Given the description of an element on the screen output the (x, y) to click on. 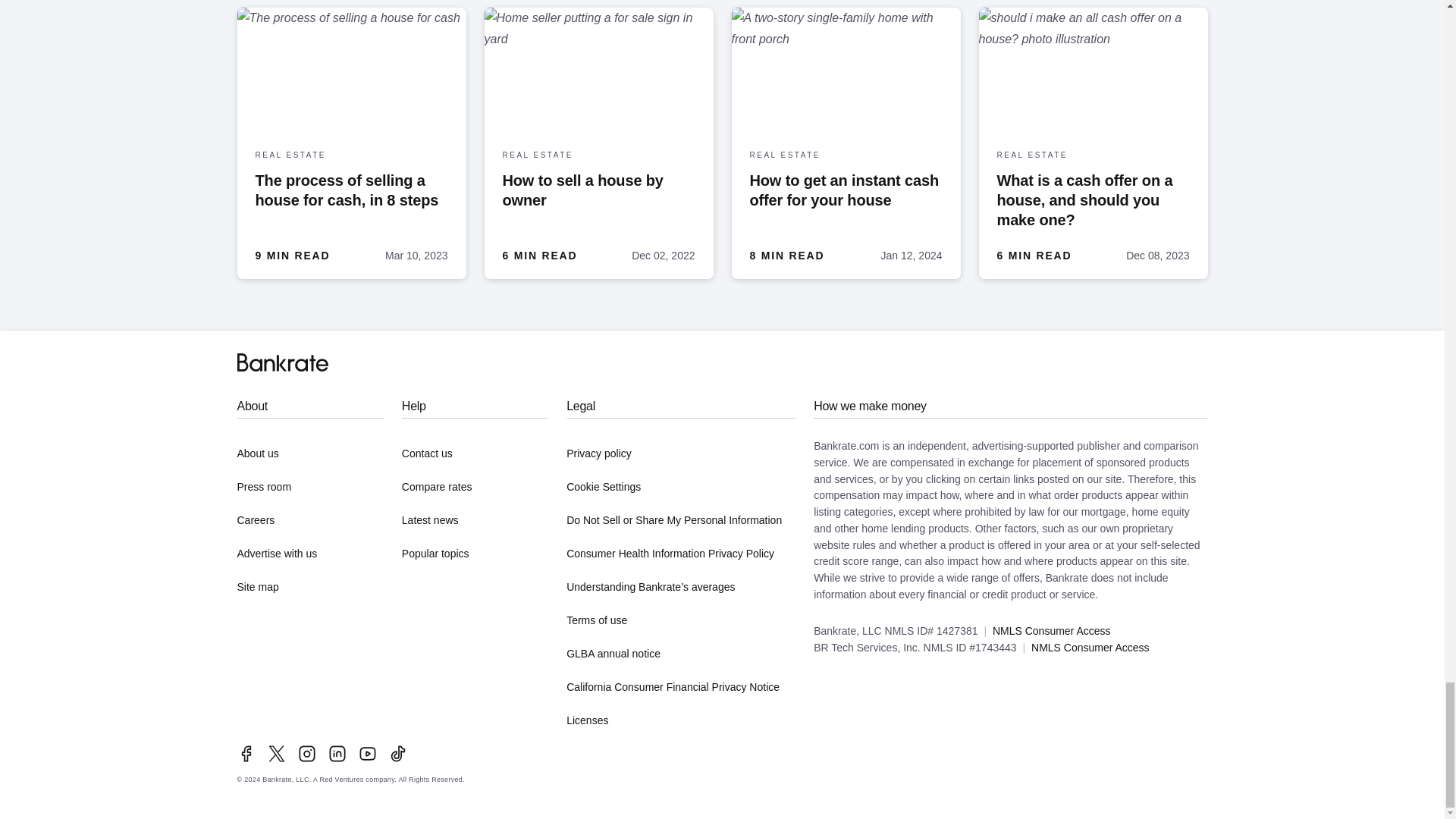
Youtube (366, 753)
LinkedIn (336, 753)
Tiktok (397, 753)
Twitter logo (275, 753)
LinkedIn logo (336, 753)
TikTok logo (397, 753)
Bankrate (281, 361)
Twitter (275, 753)
Instagram (306, 753)
Facebook (244, 753)
Instagram logo (306, 753)
YouTube logo (366, 753)
Facebook logo (244, 753)
